Given the description of an element on the screen output the (x, y) to click on. 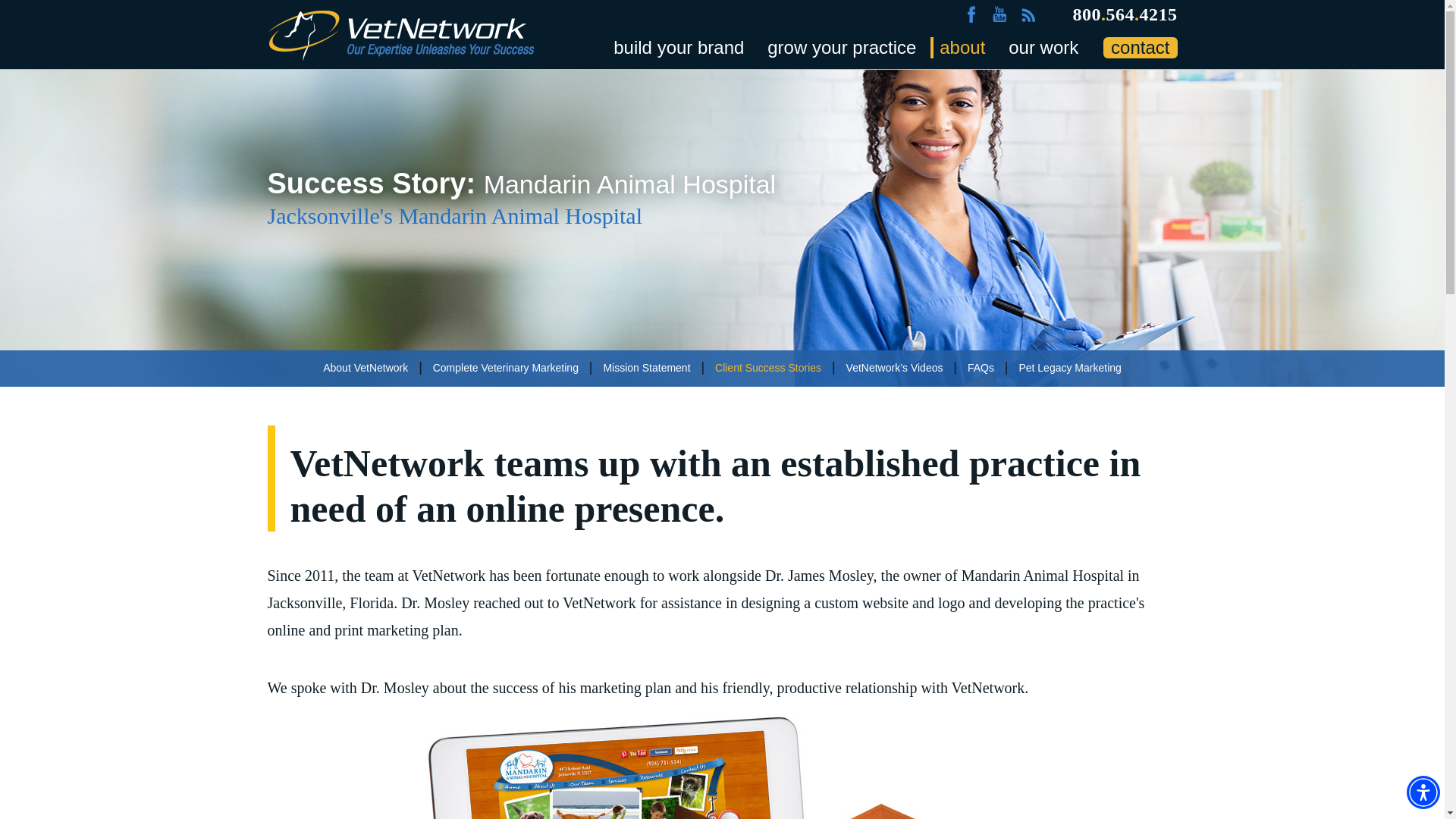
our work (1038, 47)
contact (1139, 47)
800.564.4215 (1123, 13)
grow your practice (836, 47)
Accessibility Menu (1422, 792)
about (957, 47)
build your brand (674, 47)
